Given the description of an element on the screen output the (x, y) to click on. 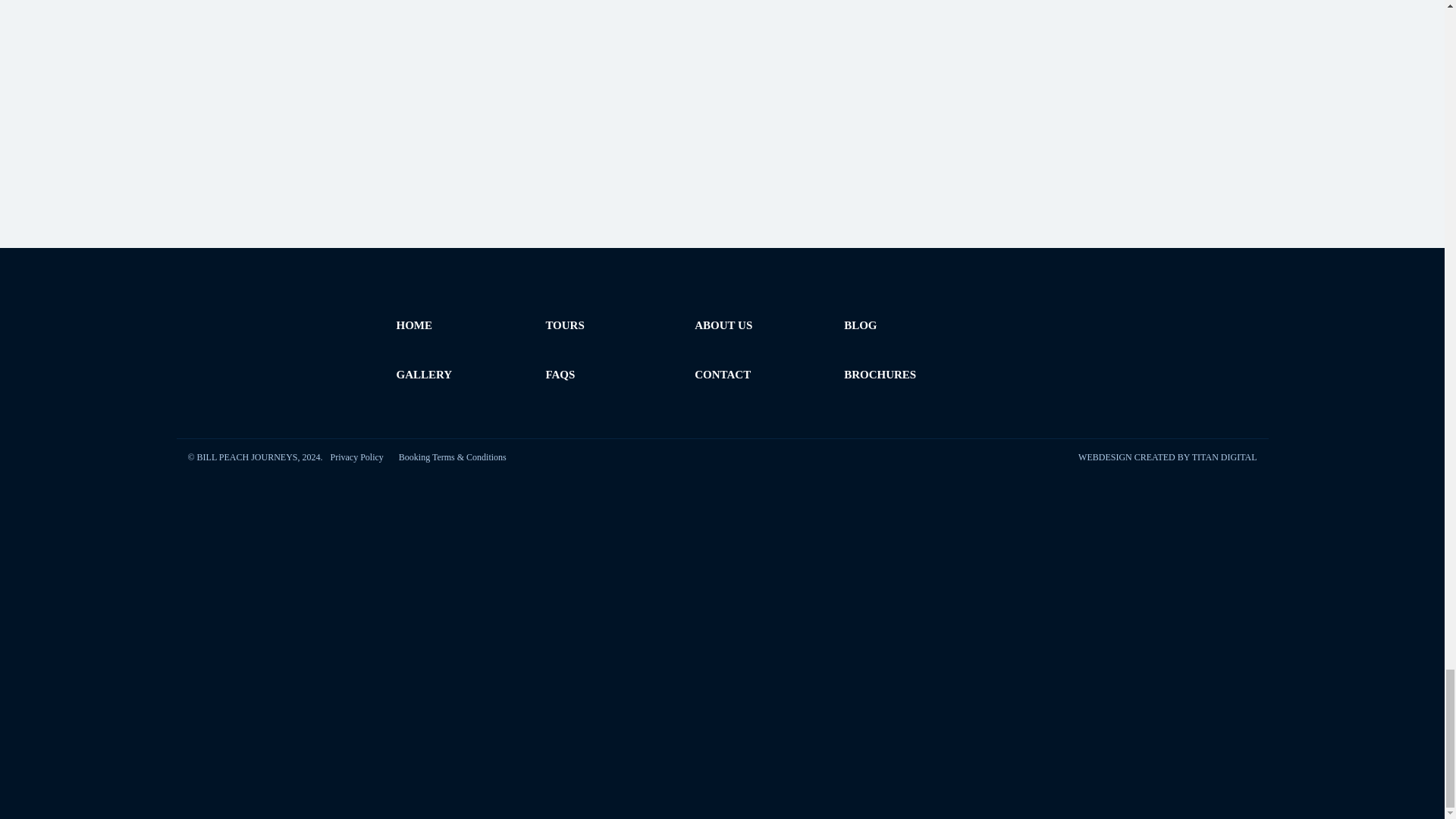
Bill Peach Journeys (267, 337)
Bill Peach Journeys (1177, 337)
